Given the description of an element on the screen output the (x, y) to click on. 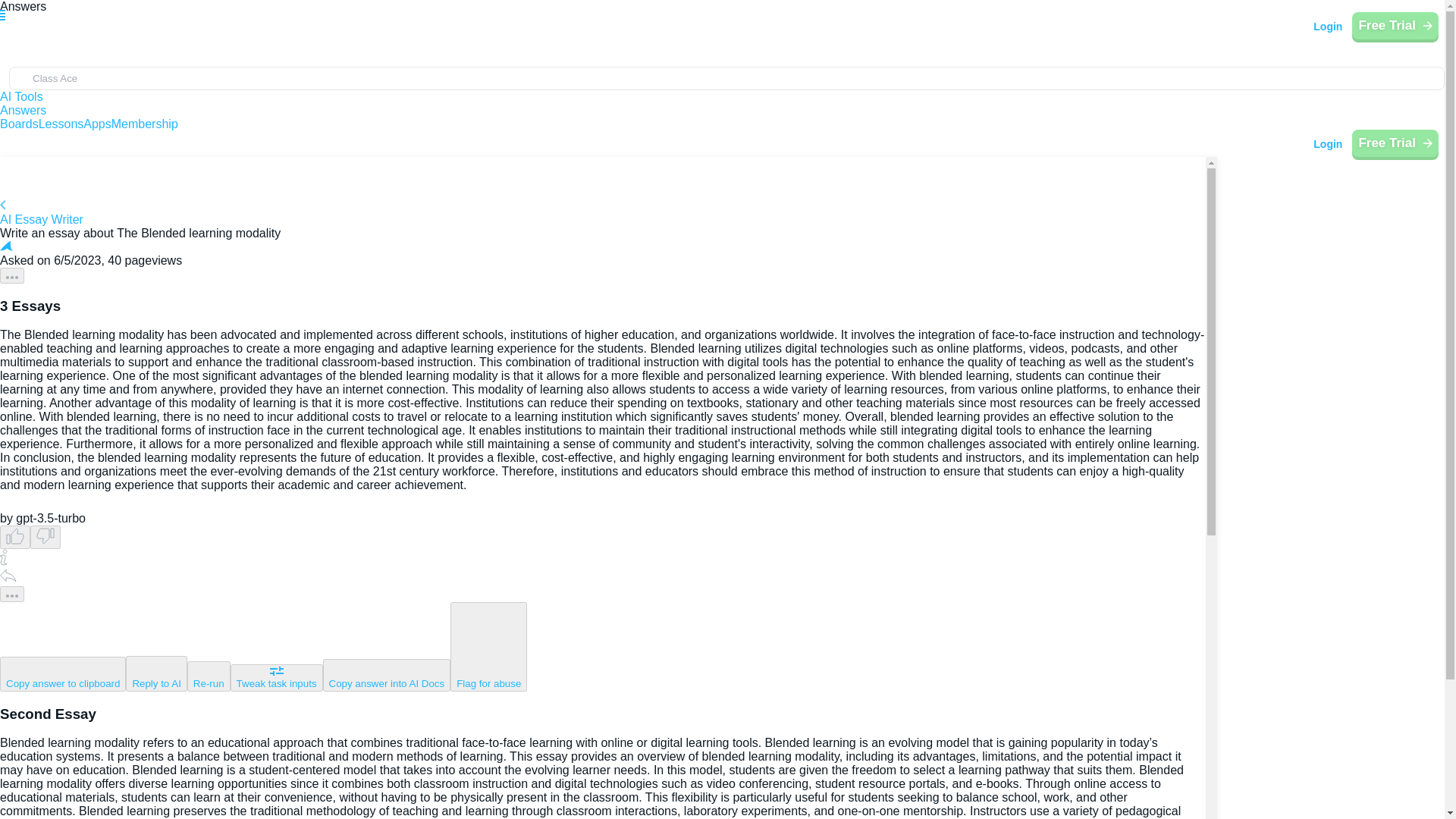
Copy answer into AI Docs (387, 675)
Free Trial (1395, 25)
Boards (19, 123)
Open Menu (19, 22)
Apps (96, 123)
Login (1327, 26)
Login (1327, 144)
Re-run (208, 675)
Lessons (61, 123)
Flag for abuse (488, 646)
Reply to AI (155, 673)
Copy answer to clipboard (62, 673)
Free Trial (1395, 143)
Membership (144, 123)
AI Essay Writer (602, 212)
